Given the description of an element on the screen output the (x, y) to click on. 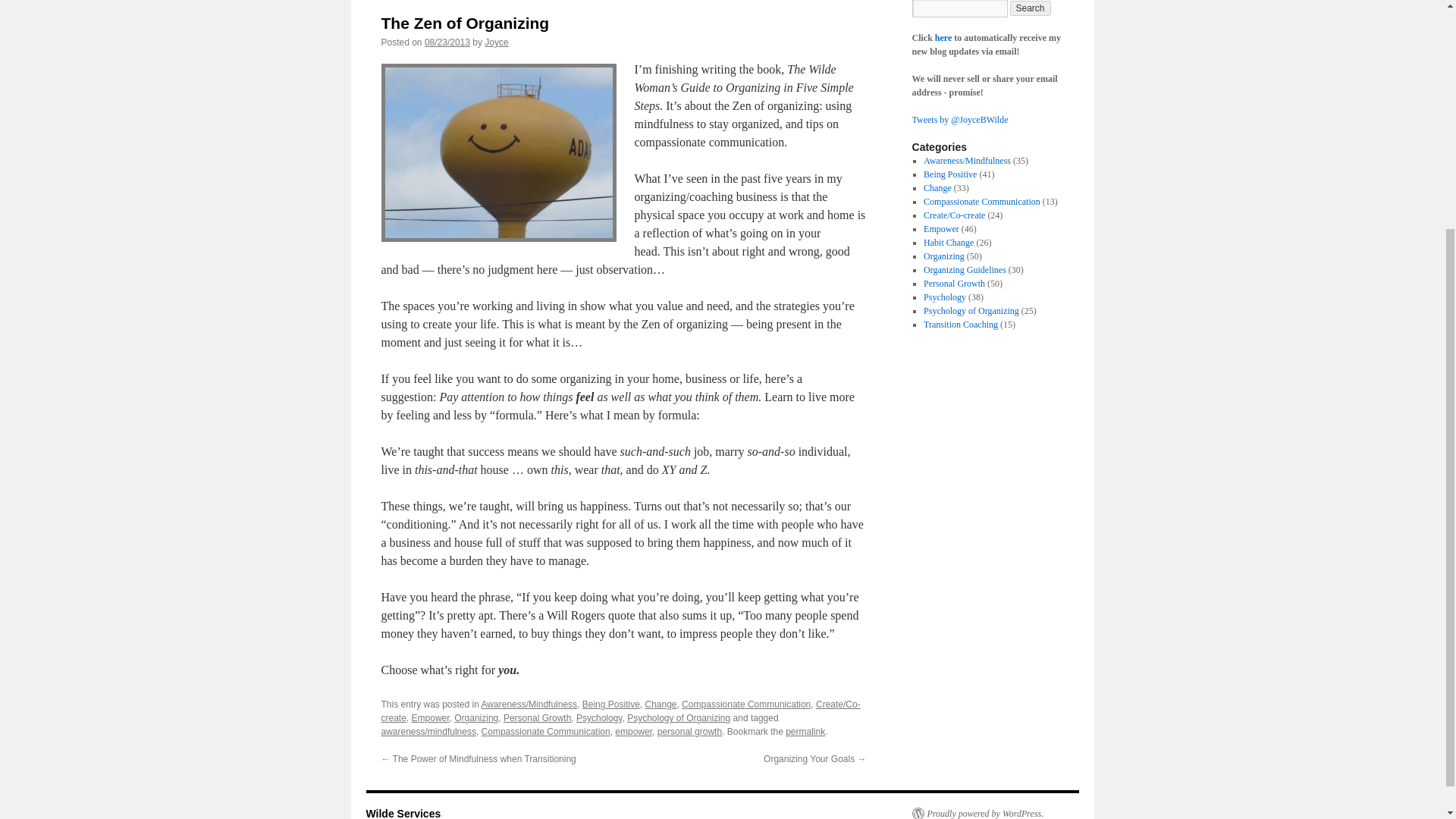
Skip to content (372, 6)
Empower (430, 717)
Organizing (475, 717)
Compassionate Communication (745, 704)
7:00 am (447, 41)
Permalink to The Zen of Organizing (805, 731)
permalink (805, 731)
Being Positive (611, 704)
Compassionate Communication (982, 201)
Change (661, 704)
Joyce (496, 41)
Compassionate Communication (545, 731)
View all posts by Joyce (496, 41)
Psychology of Organizing (678, 717)
Change (937, 187)
